Given the description of an element on the screen output the (x, y) to click on. 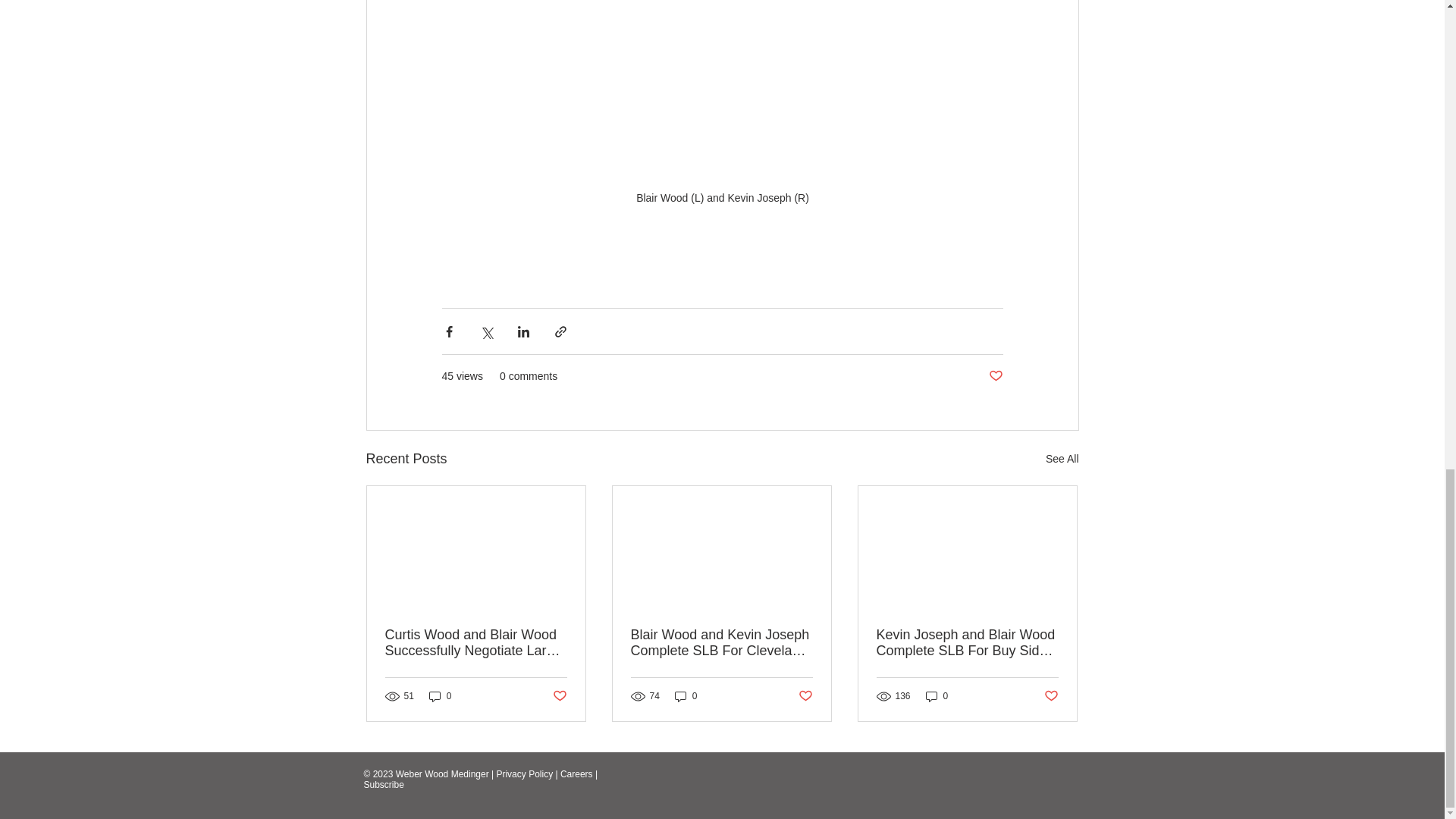
Post not marked as liked (1050, 696)
0 (937, 696)
Post not marked as liked (804, 696)
Post not marked as liked (995, 376)
Post not marked as liked (558, 696)
See All (1061, 458)
0 (440, 696)
0 (685, 696)
